Given the description of an element on the screen output the (x, y) to click on. 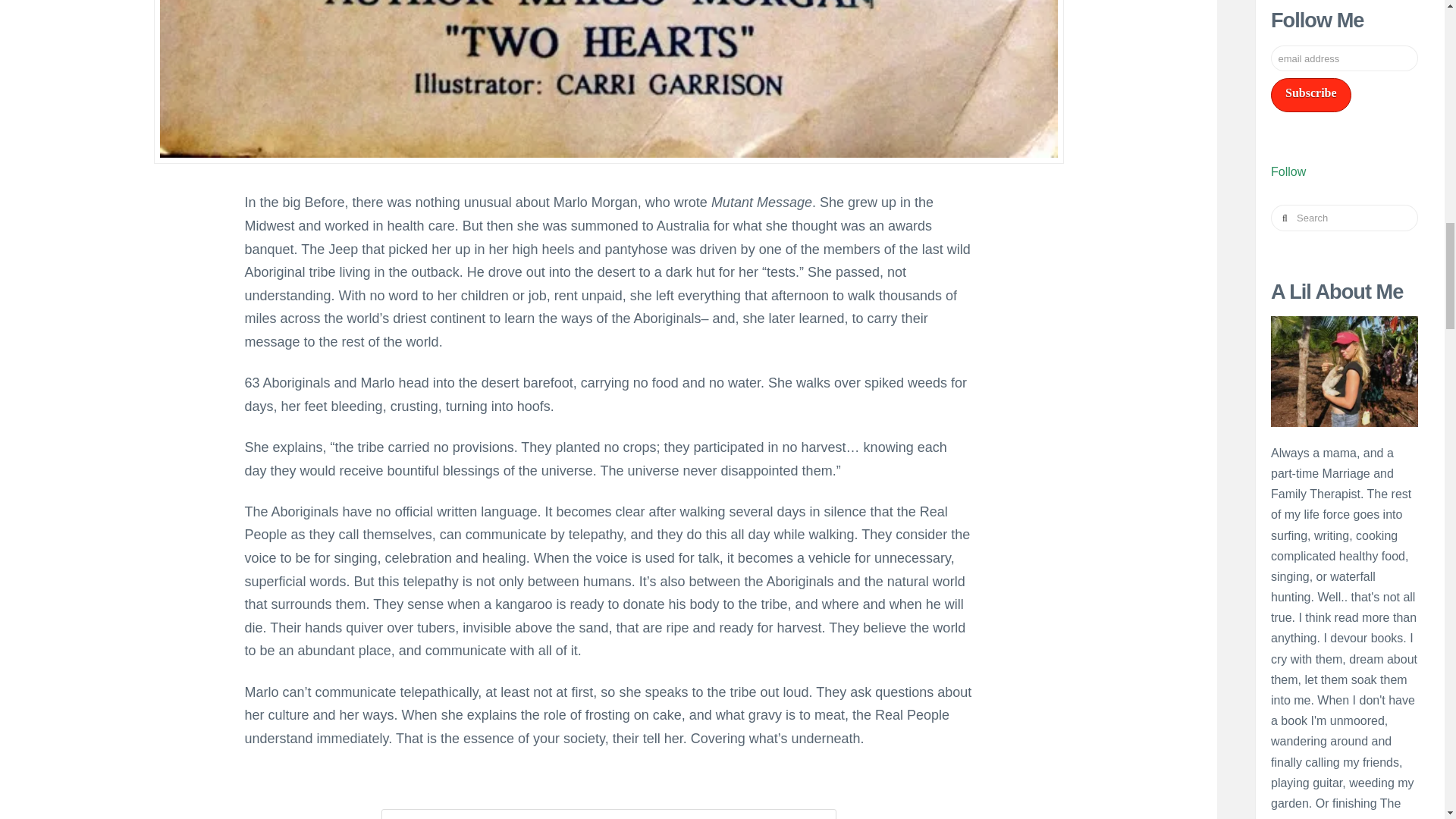
Surfing the Cold Shit: Washington and Oregon (1308, 321)
FORBIDDEN SOIL: CUBA (1308, 515)
